Given the description of an element on the screen output the (x, y) to click on. 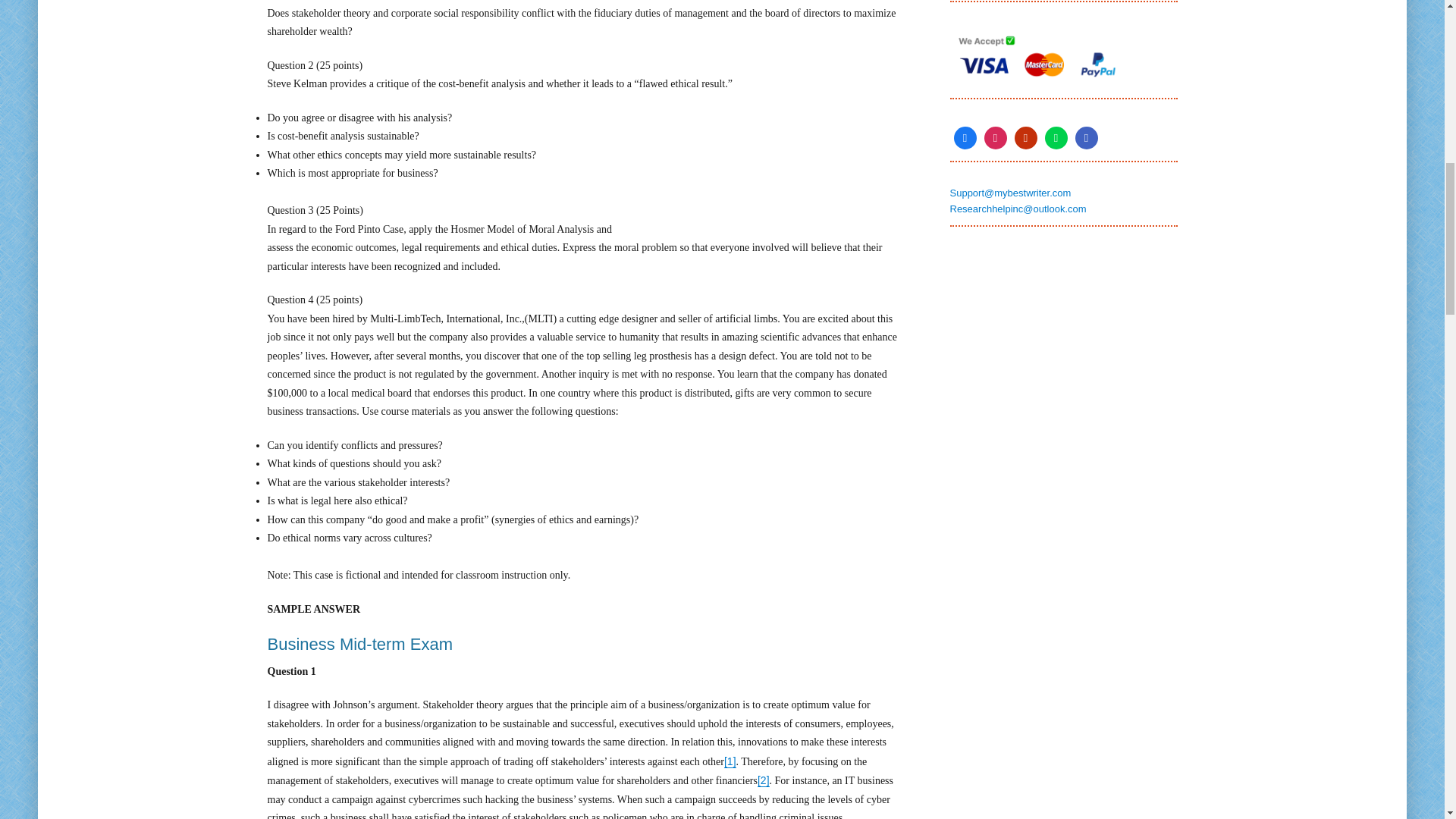
Youtube (1025, 137)
Viber (1085, 137)
Facebook (964, 137)
Whatsapp (1055, 137)
Instagram (994, 137)
